Given the description of an element on the screen output the (x, y) to click on. 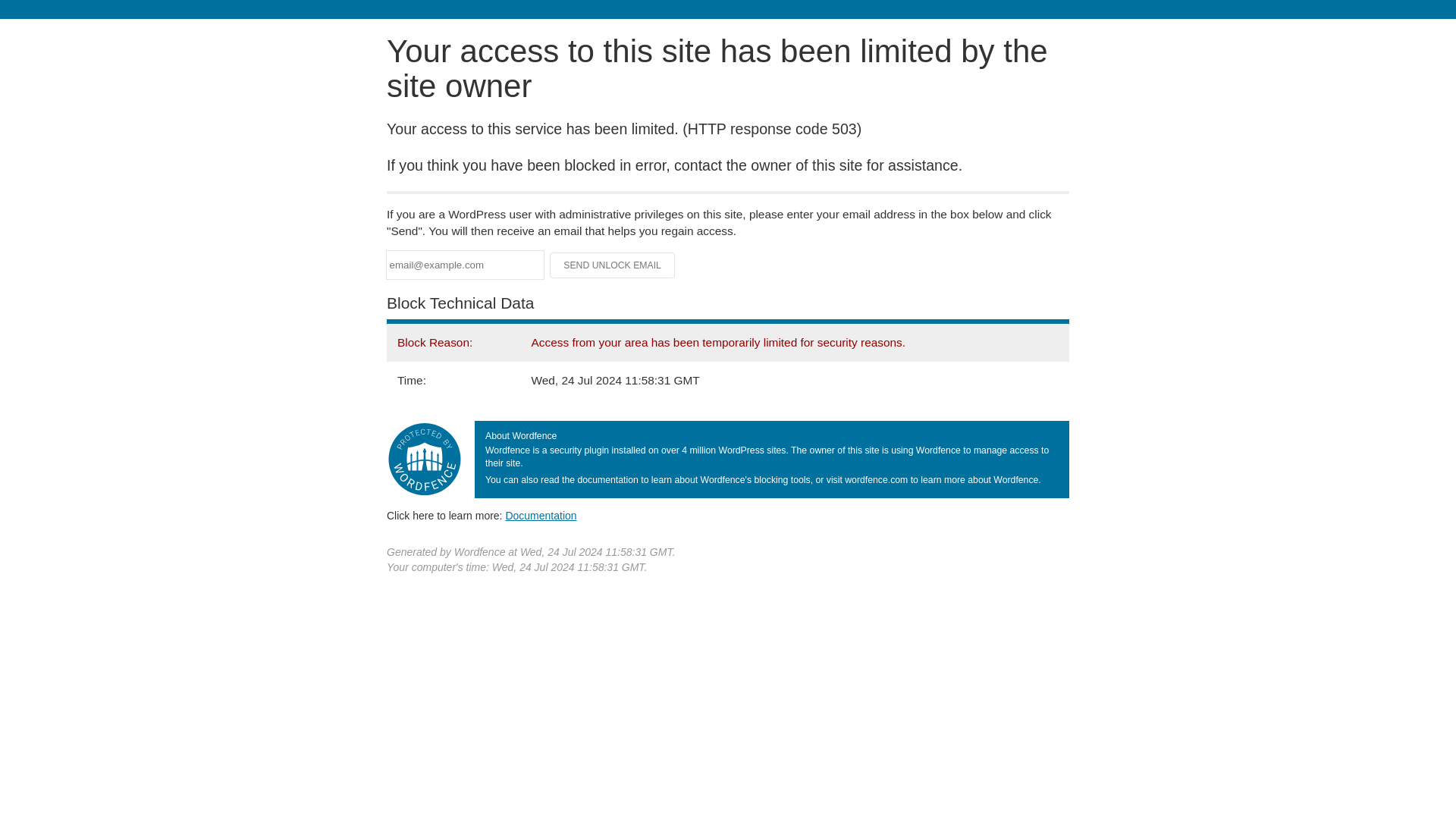
Send Unlock Email (612, 265)
Send Unlock Email (612, 265)
Documentation (540, 515)
